Given the description of an element on the screen output the (x, y) to click on. 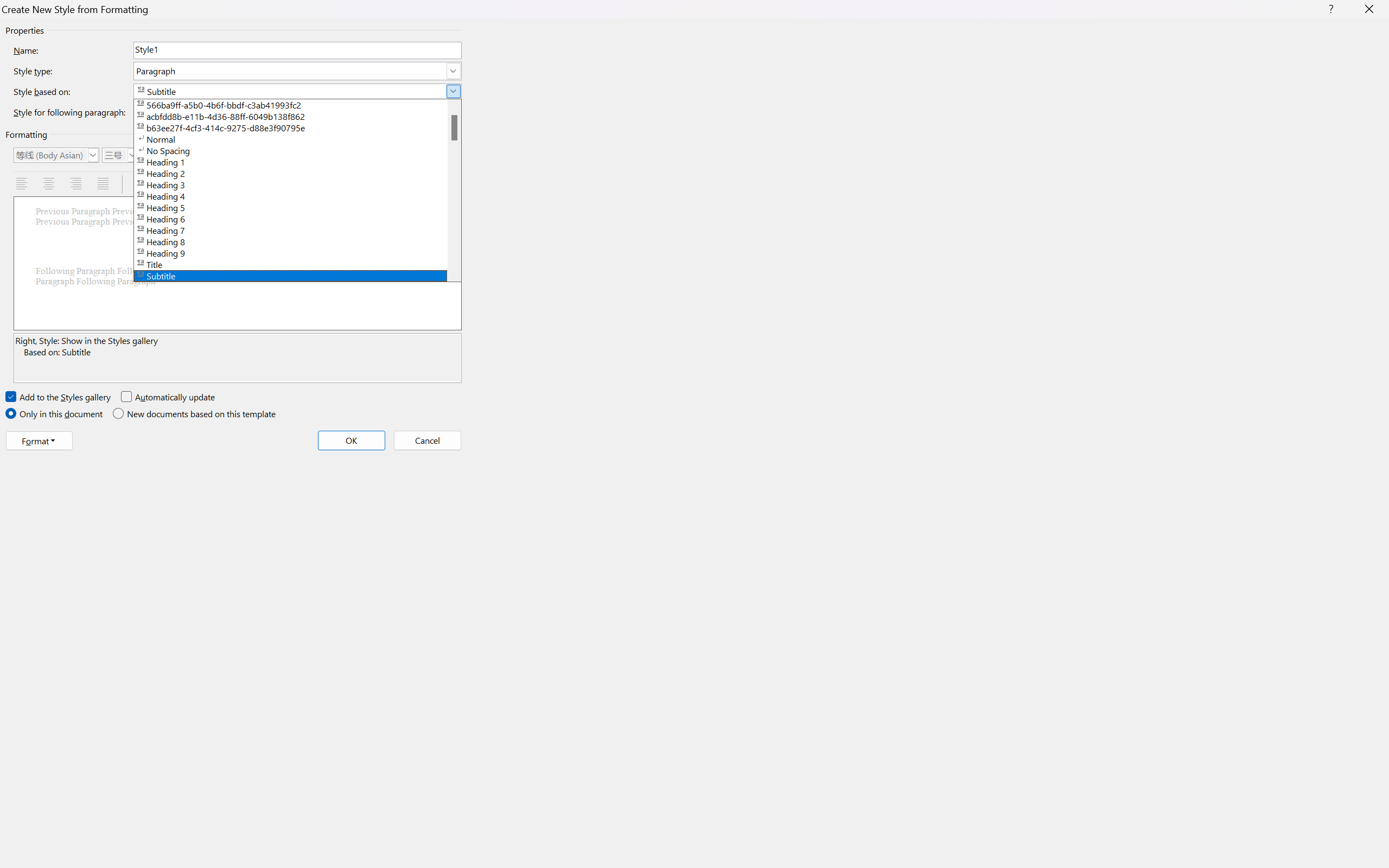
Heading 9 (297, 252)
Name: (297, 50)
Increase Paragraph Spacing (231, 183)
Automatically update (168, 396)
Single Spacing (140, 183)
